Given the description of an element on the screen output the (x, y) to click on. 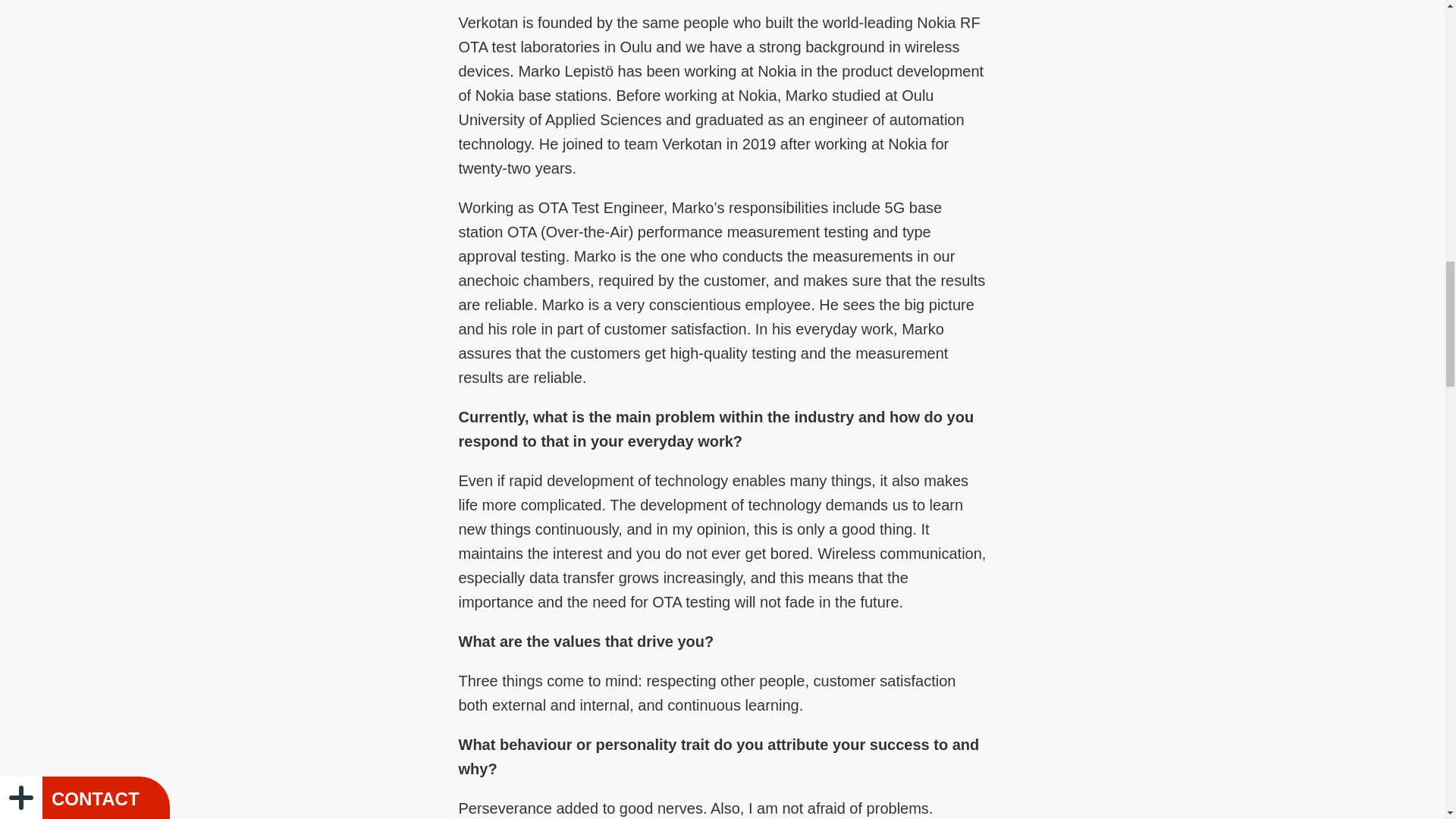
1 (744, 239)
1 (744, 160)
Submit form (960, 296)
